Given the description of an element on the screen output the (x, y) to click on. 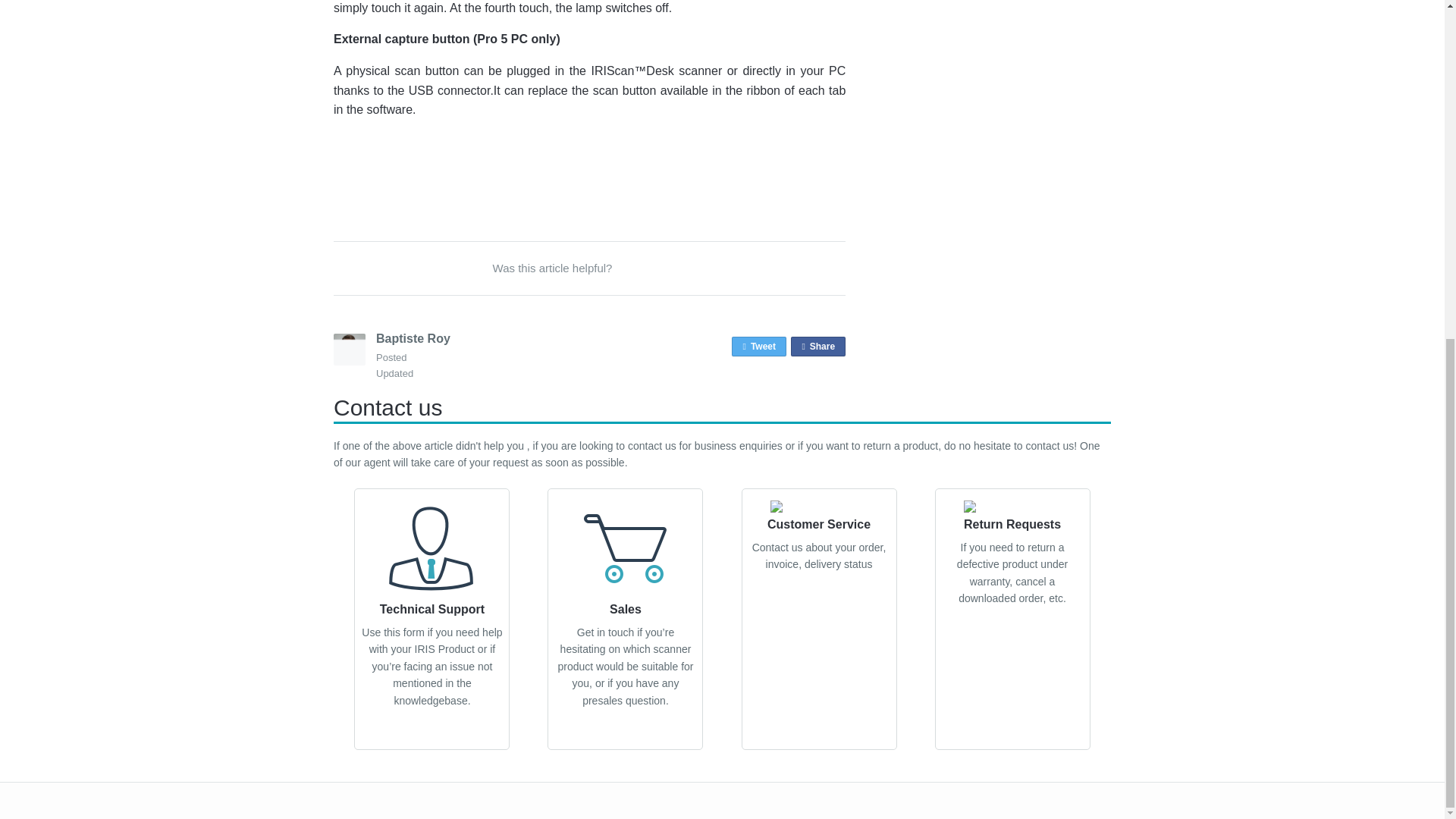
Tweet (759, 346)
